Given the description of an element on the screen output the (x, y) to click on. 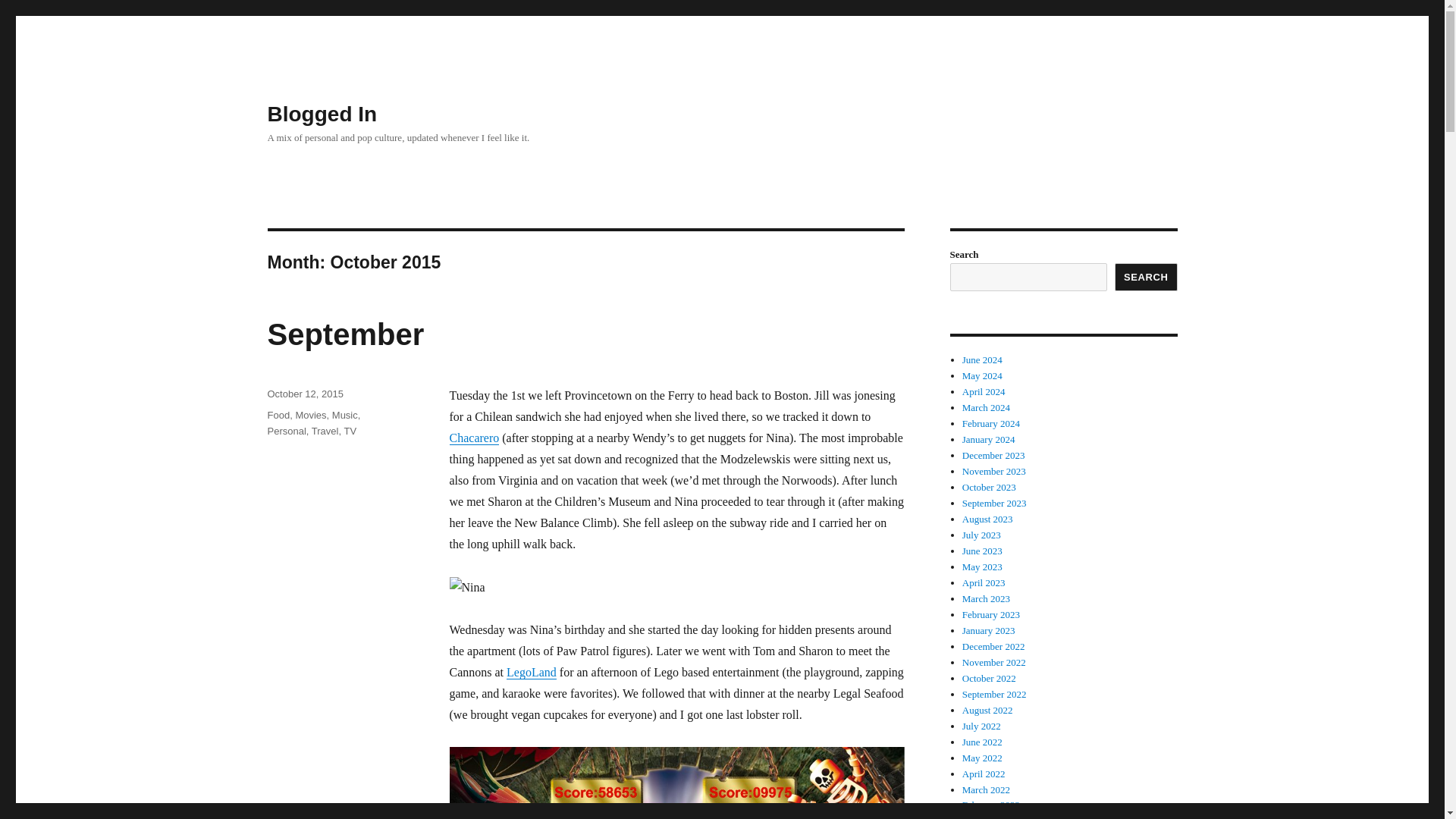
October 12, 2015 (304, 393)
April 2024 (984, 391)
October 2023 (989, 487)
Travel (325, 430)
Music (344, 414)
May 2024 (982, 375)
July 2023 (981, 534)
LegoLand (531, 671)
Food (277, 414)
January 2024 (988, 439)
